Given the description of an element on the screen output the (x, y) to click on. 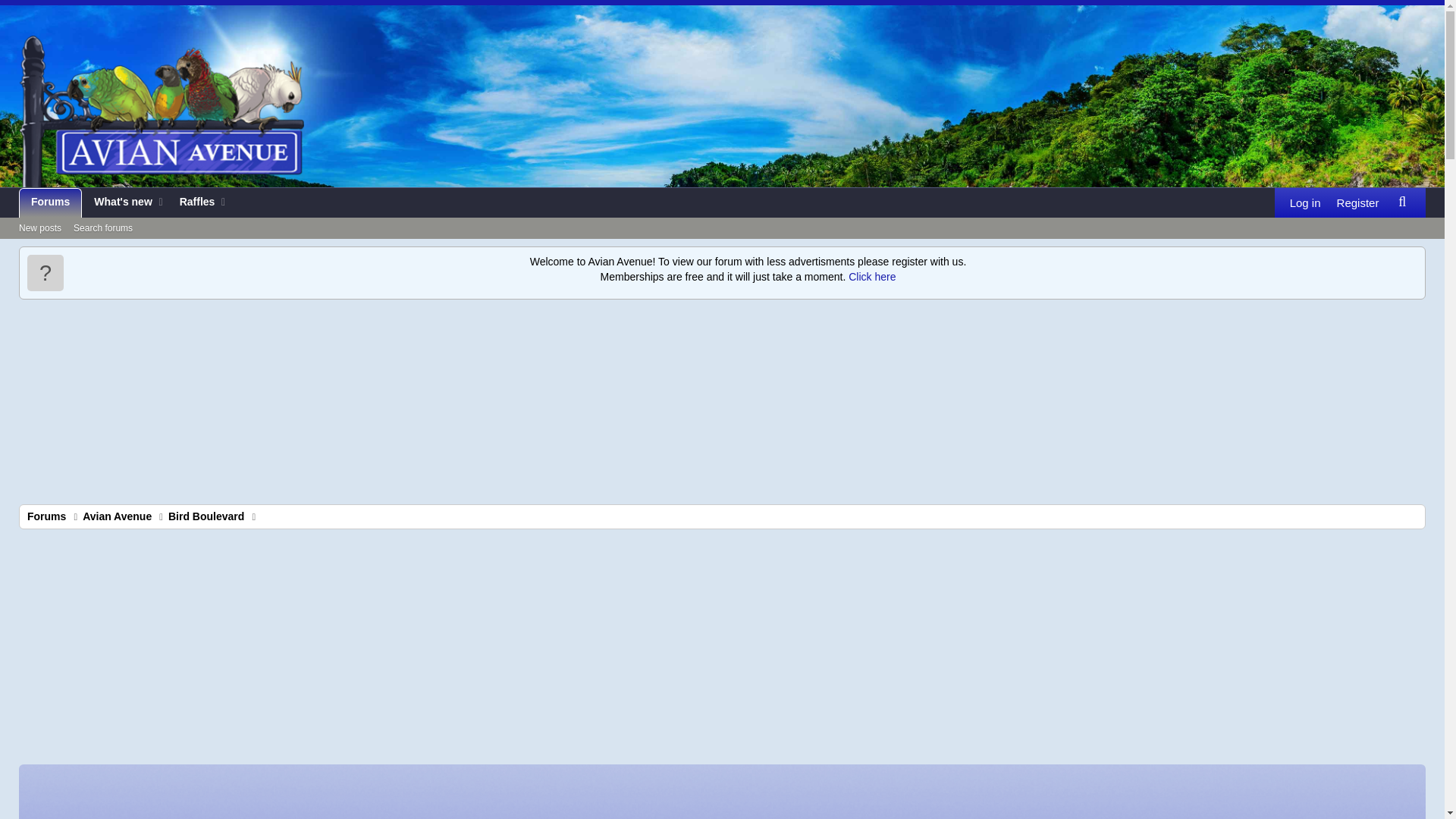
Raffles (124, 202)
What's new (192, 203)
Log in (118, 203)
Register (1304, 203)
Bird Boulevard (1357, 203)
Click here (206, 516)
Forums (870, 276)
Forums (124, 219)
Search (46, 516)
Avian Avenue (50, 203)
New posts (1402, 202)
Search forums (116, 516)
